Given the description of an element on the screen output the (x, y) to click on. 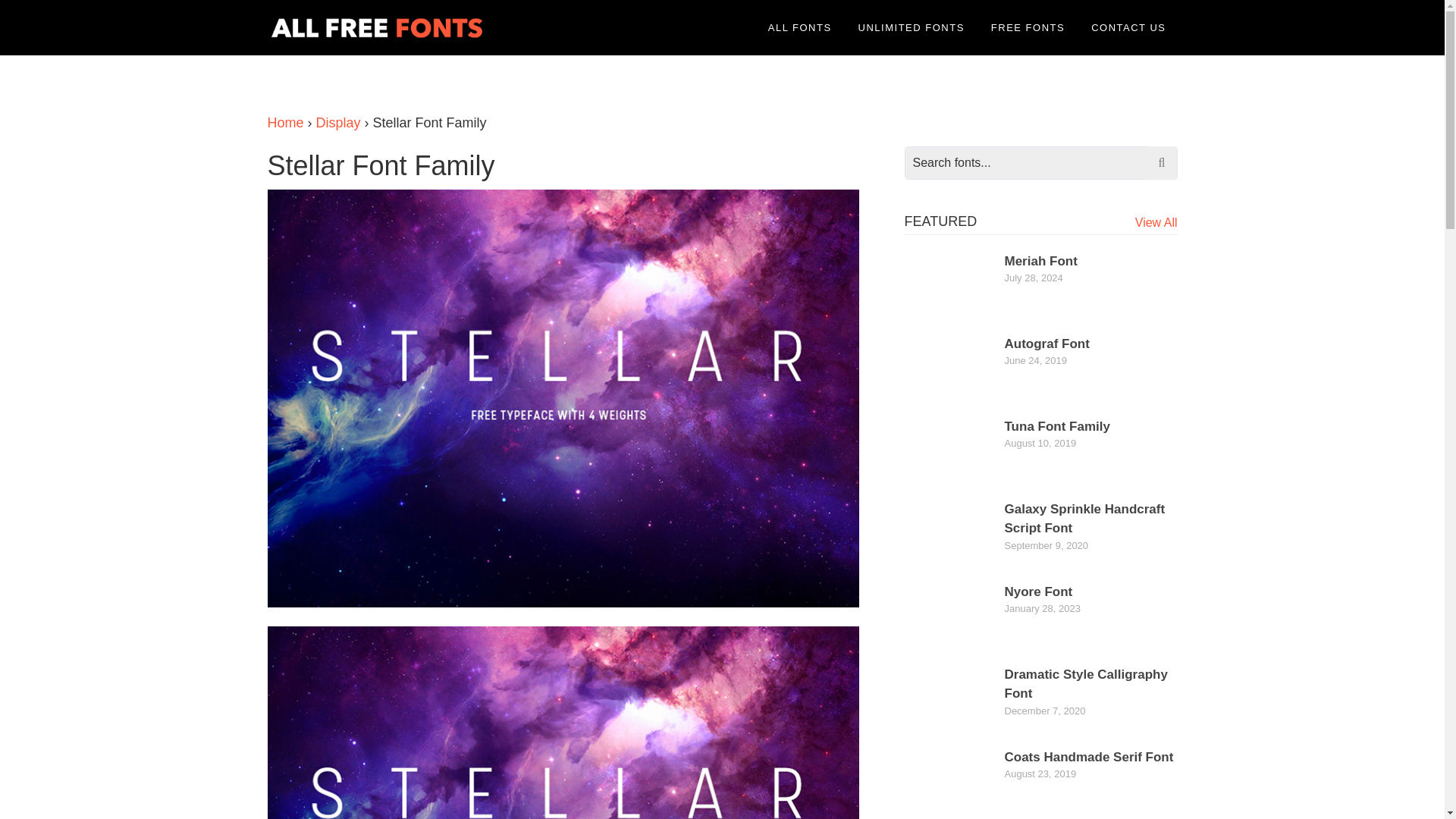
CONTACT US (1128, 27)
UNLIMITED FONTS (911, 27)
ALL FONTS (800, 27)
Display (338, 122)
Home (284, 122)
FREE FONTS (1027, 27)
View All (1156, 222)
